Given the description of an element on the screen output the (x, y) to click on. 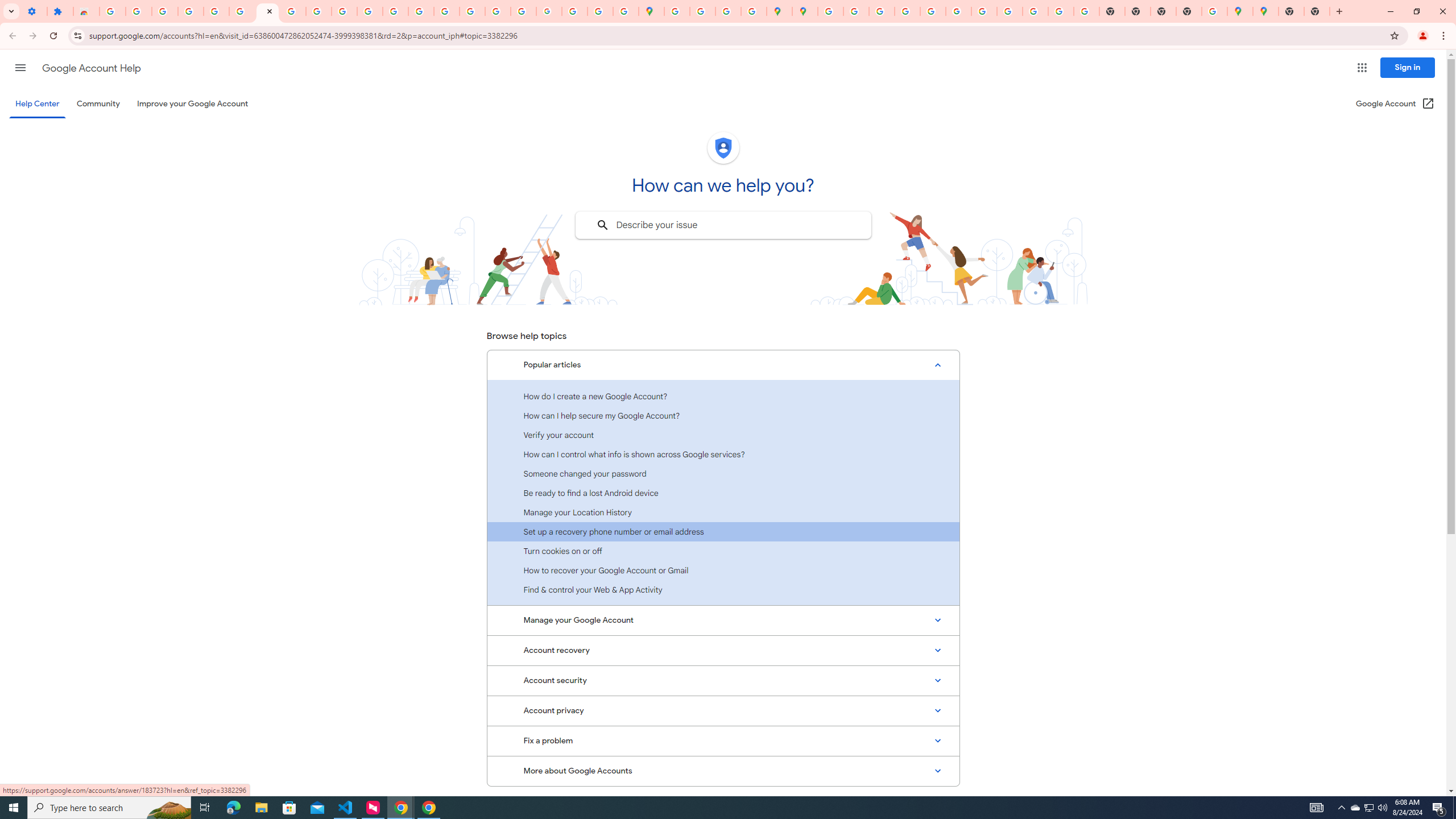
Turn cookies on or off (722, 551)
Google Maps (1239, 11)
Help Center (36, 103)
YouTube (983, 11)
https://scholar.google.com/ (395, 11)
Privacy Help Center - Policies Help (907, 11)
Reviews: Helix Fruit Jump Arcade Game (86, 11)
Google Account (Open in a new window) (1395, 103)
Fix a problem (722, 740)
